Given the description of an element on the screen output the (x, y) to click on. 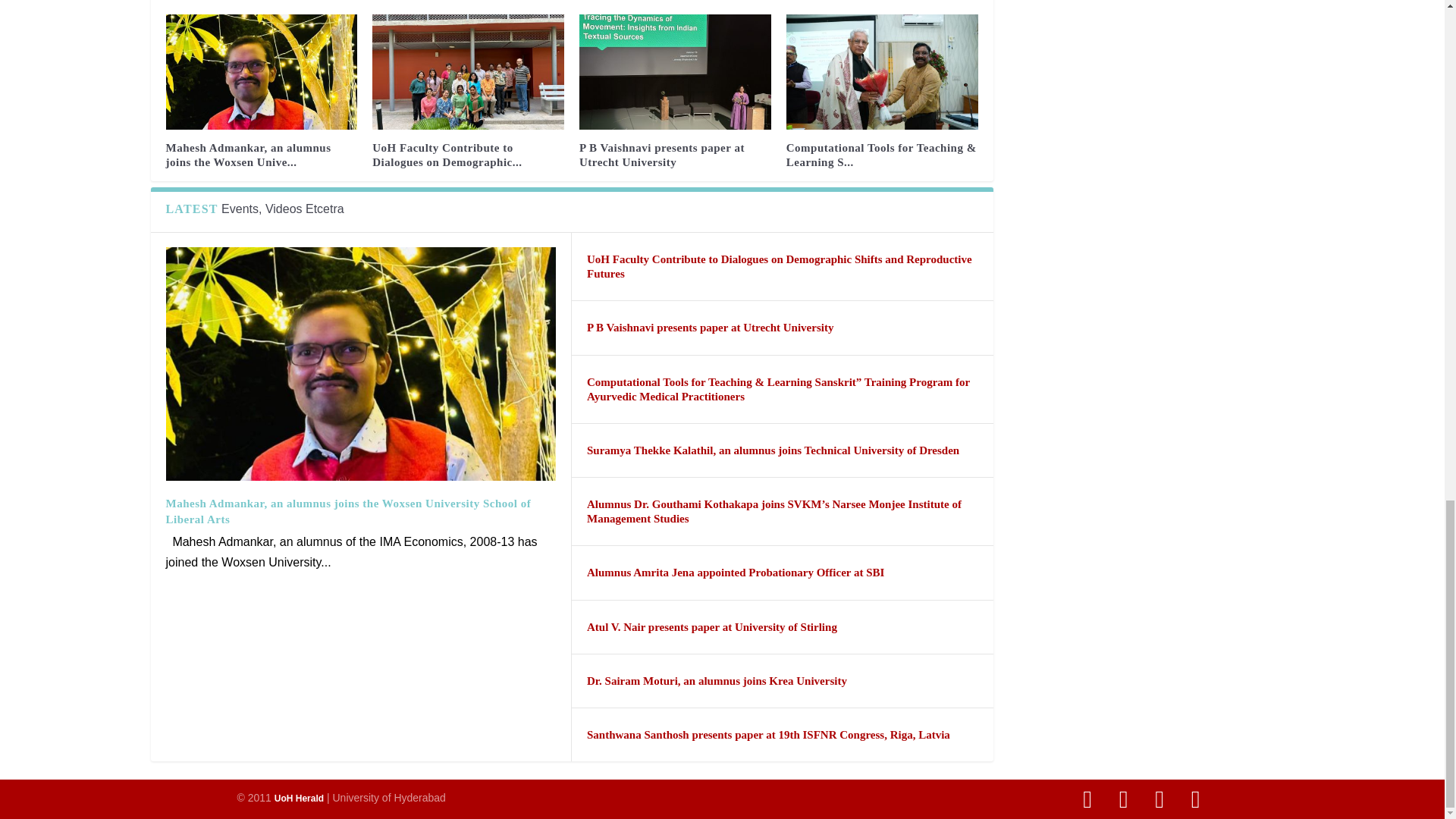
P B Vaishnavi presents paper at Utrecht University (675, 71)
